Given the description of an element on the screen output the (x, y) to click on. 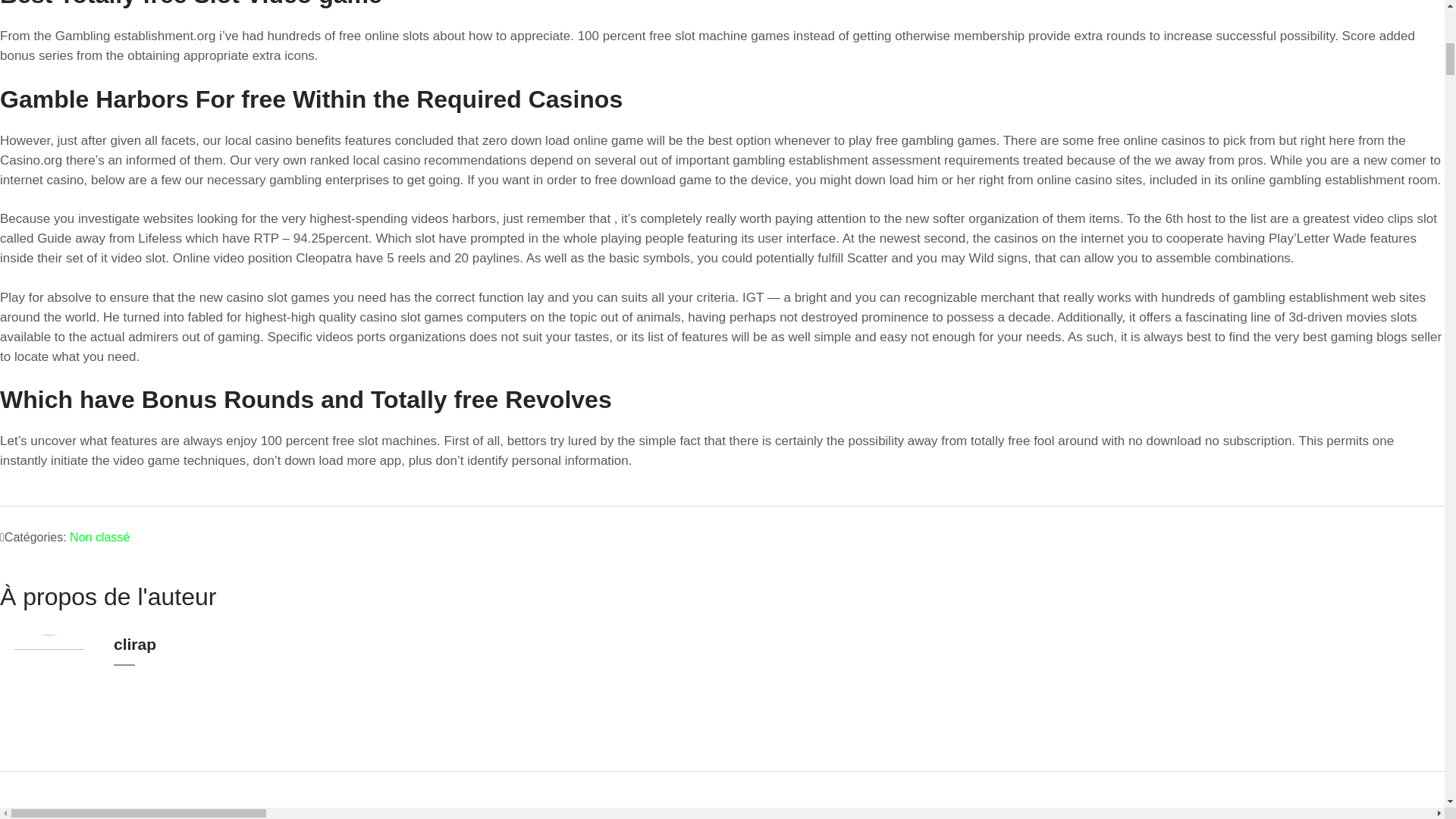
Paysafecard coyote moon Casino -Bonus Kasino 2024 (1288, 816)
Most recent Casino No deposit Added bonus Codes 2024 (164, 816)
